Given the description of an element on the screen output the (x, y) to click on. 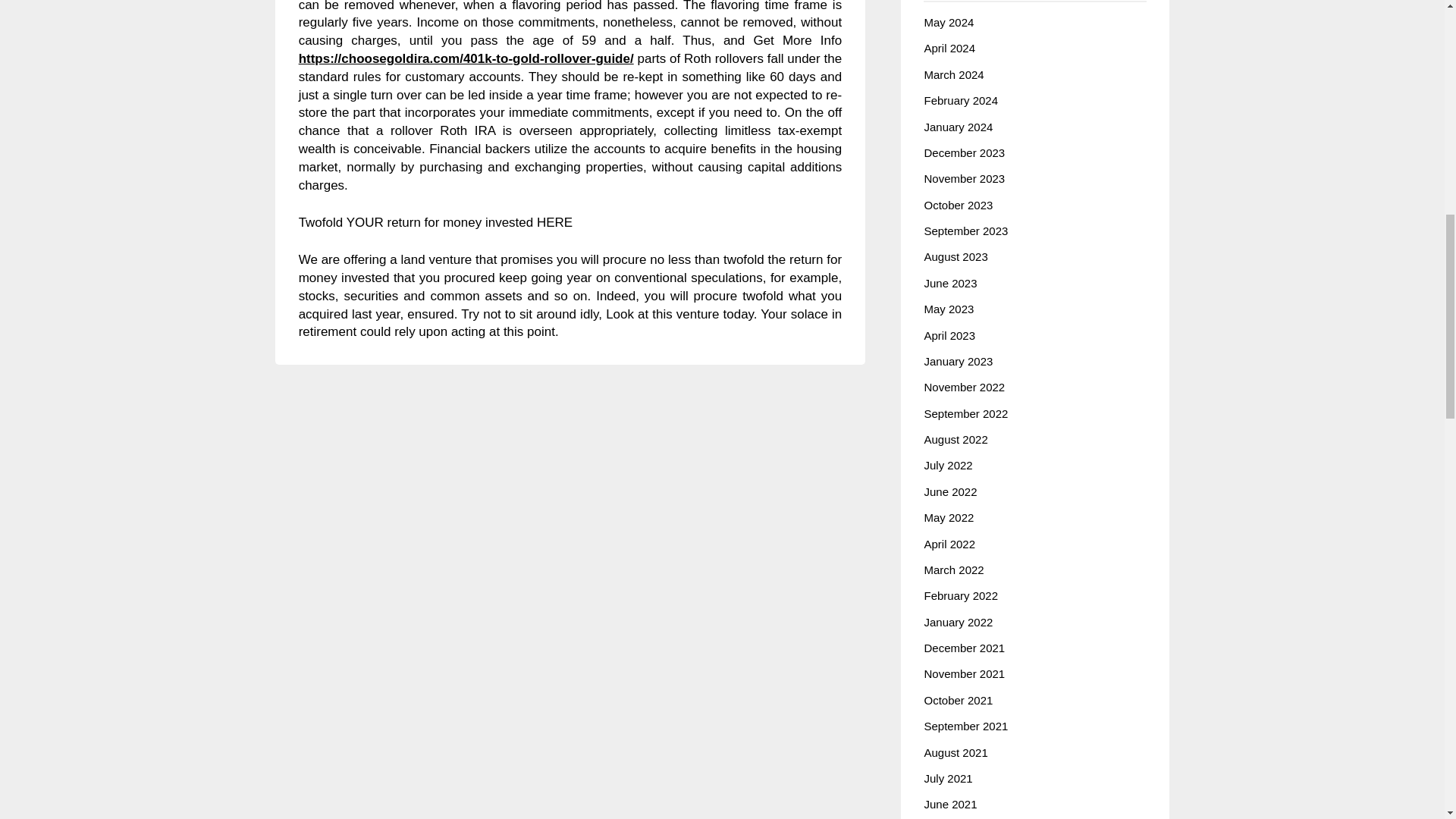
October 2023 (957, 205)
December 2023 (963, 152)
July 2022 (947, 464)
February 2024 (960, 100)
June 2023 (949, 282)
December 2021 (963, 647)
April 2022 (949, 543)
April 2024 (949, 47)
April 2023 (949, 335)
November 2021 (963, 673)
September 2023 (965, 230)
June 2022 (949, 491)
January 2022 (957, 621)
November 2022 (963, 386)
August 2023 (955, 256)
